Given the description of an element on the screen output the (x, y) to click on. 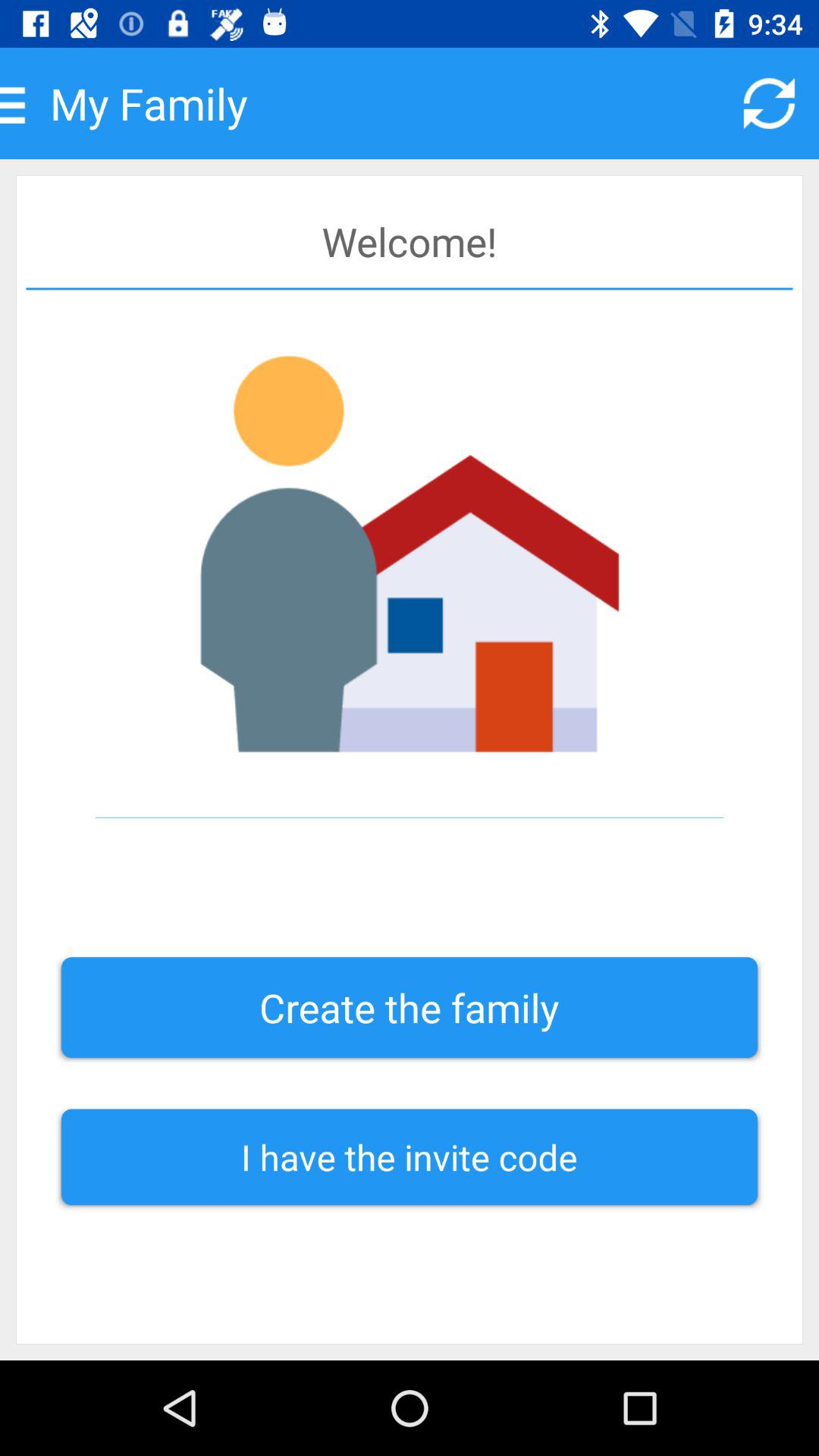
launch the item at the top right corner (769, 103)
